Given the description of an element on the screen output the (x, y) to click on. 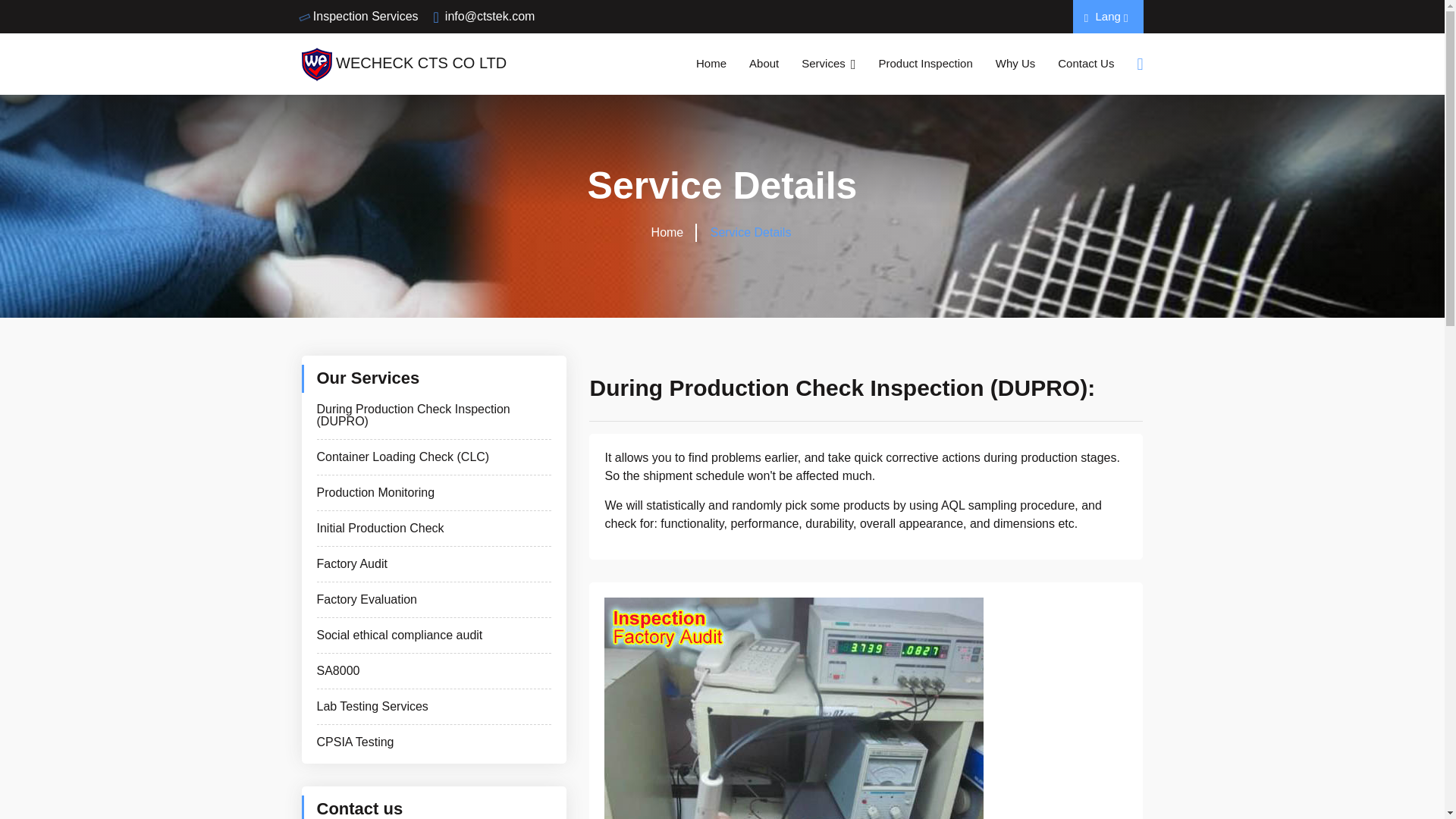
WECHECK CTS CO LTD (403, 63)
Home (710, 63)
About (763, 63)
Home (667, 232)
Why Us (1015, 63)
Product Inspection (924, 63)
Factory Audit (434, 563)
Lang (1108, 15)
Services (829, 63)
Production Monitoring (434, 492)
Factory Evaluation (434, 599)
Initial Production Check (434, 528)
Contact Us (1085, 63)
Inspection Services (360, 15)
